Given the description of an element on the screen output the (x, y) to click on. 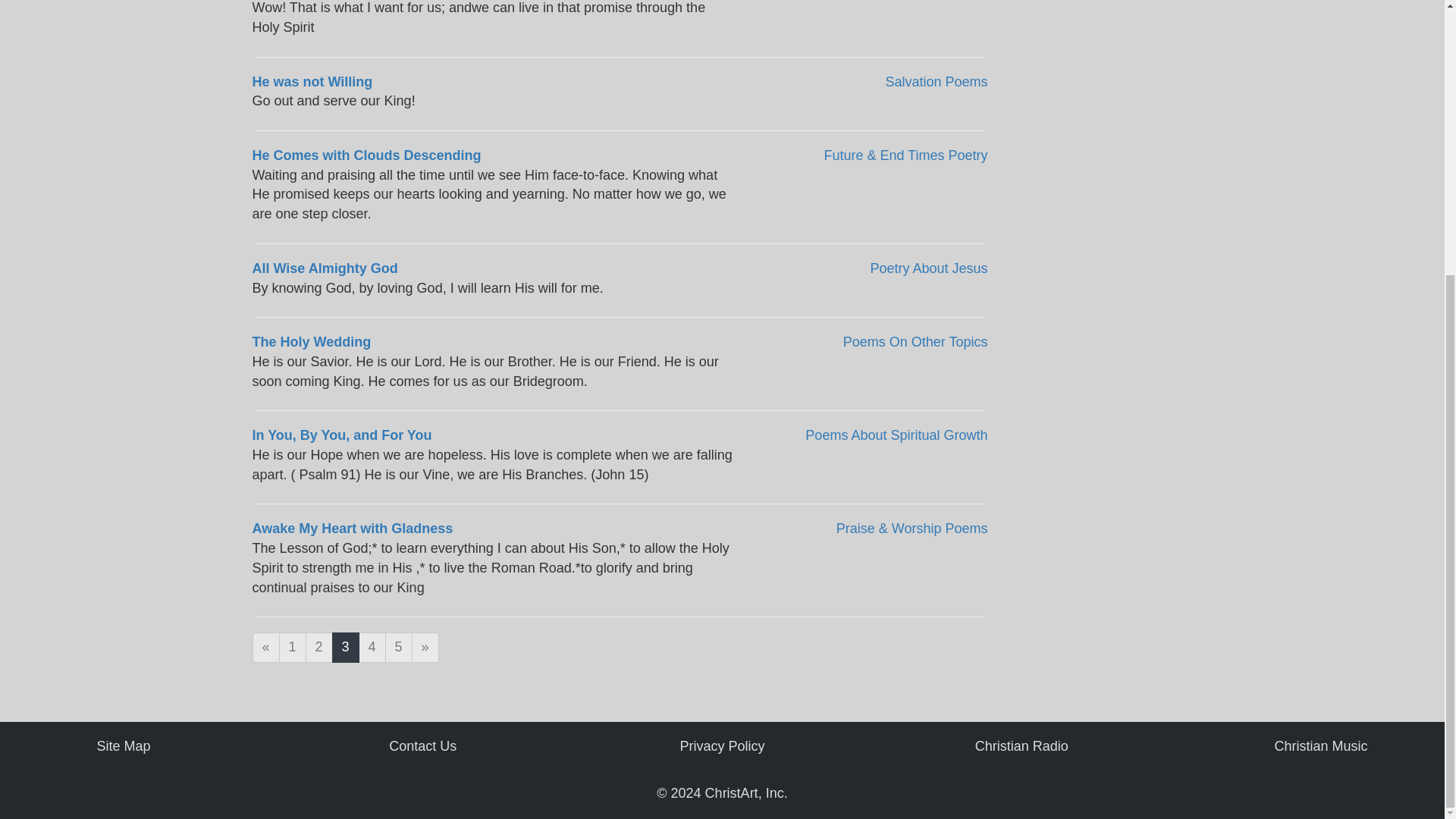
1 (292, 647)
4 (371, 647)
Poetry About Jesus (928, 268)
Awake My Heart with Gladness (351, 528)
He was not Willing (311, 81)
2 (319, 647)
Salvation Poems (936, 81)
5 (398, 647)
In You, By You, and For You (340, 435)
Poems About Spiritual Growth (896, 435)
The Holy Wedding (311, 341)
Poems On Other Topics (915, 341)
He Comes with Clouds Descending (365, 155)
All Wise Almighty God (324, 268)
